Given the description of an element on the screen output the (x, y) to click on. 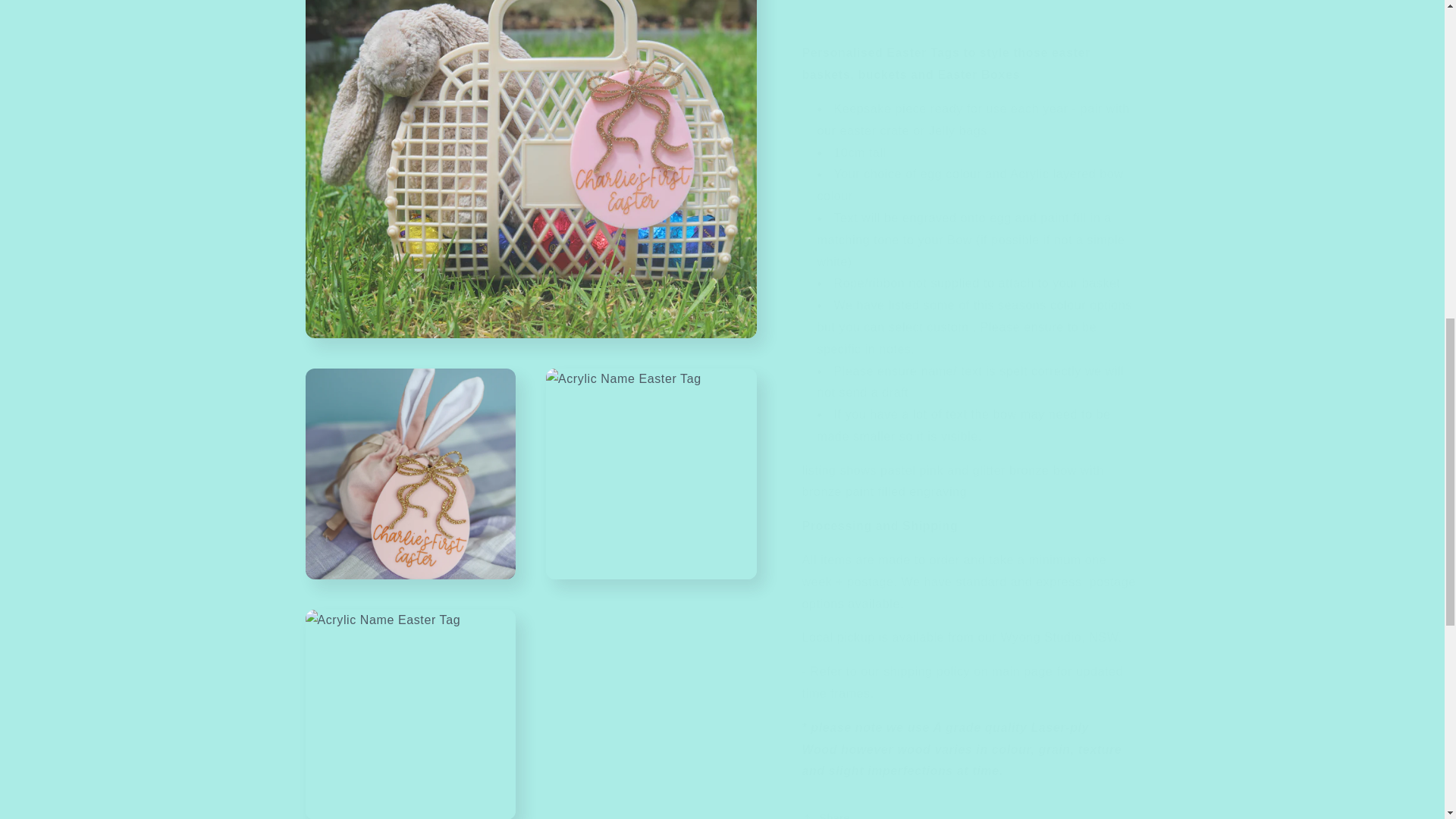
Open media 4 in modal (409, 253)
Open media 2 in modal (409, 58)
Open media 3 in modal (651, 58)
